Given the description of an element on the screen output the (x, y) to click on. 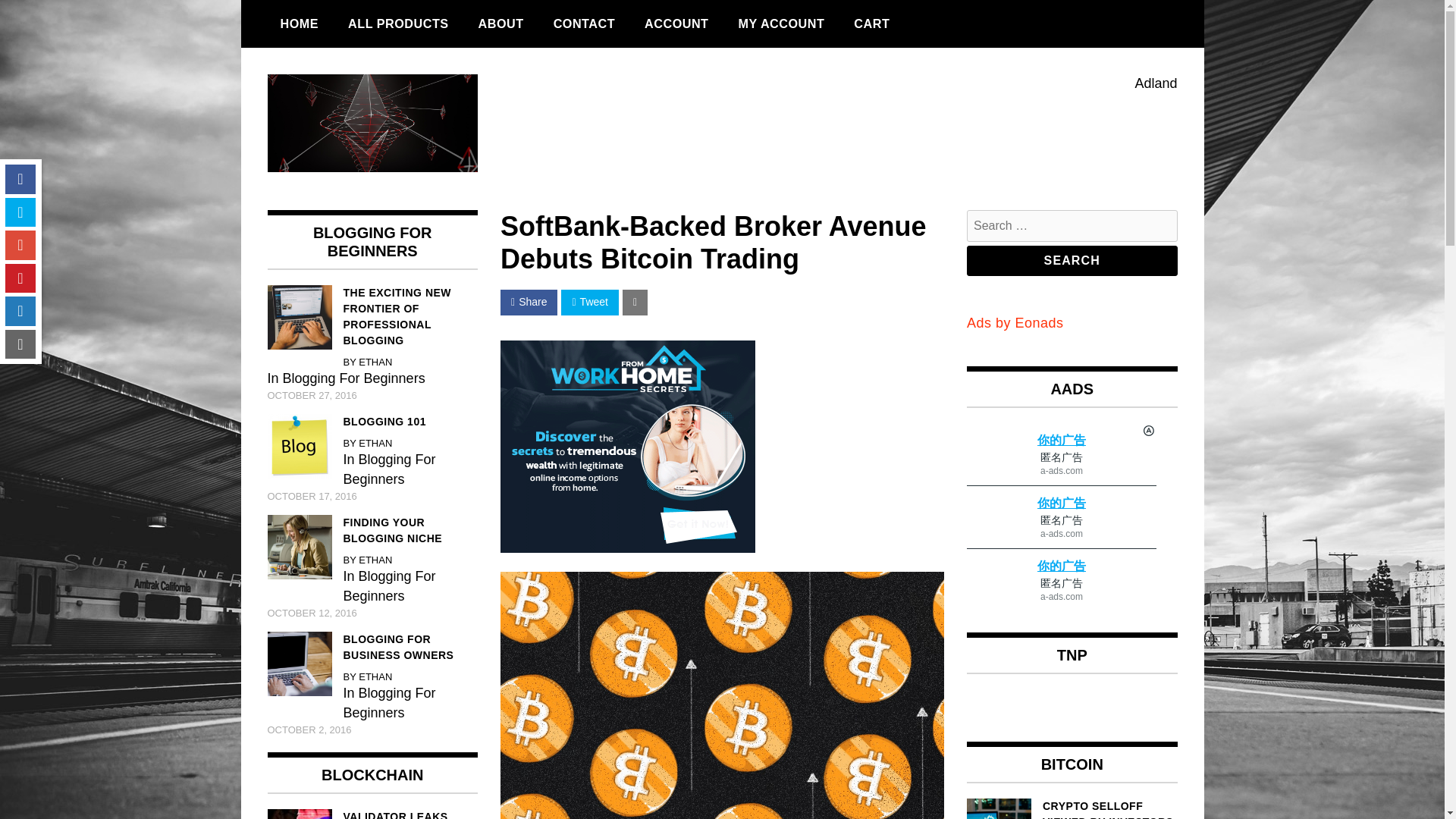
Tweet on Twitter (588, 302)
Work from Home Secrets (627, 446)
HOME (298, 23)
Search (1071, 260)
BLOGGING 101 (371, 421)
ACCOUNT (676, 23)
ABOUT (501, 23)
CONTACT (583, 23)
CART (872, 23)
Share On Facebook (528, 302)
